Given the description of an element on the screen output the (x, y) to click on. 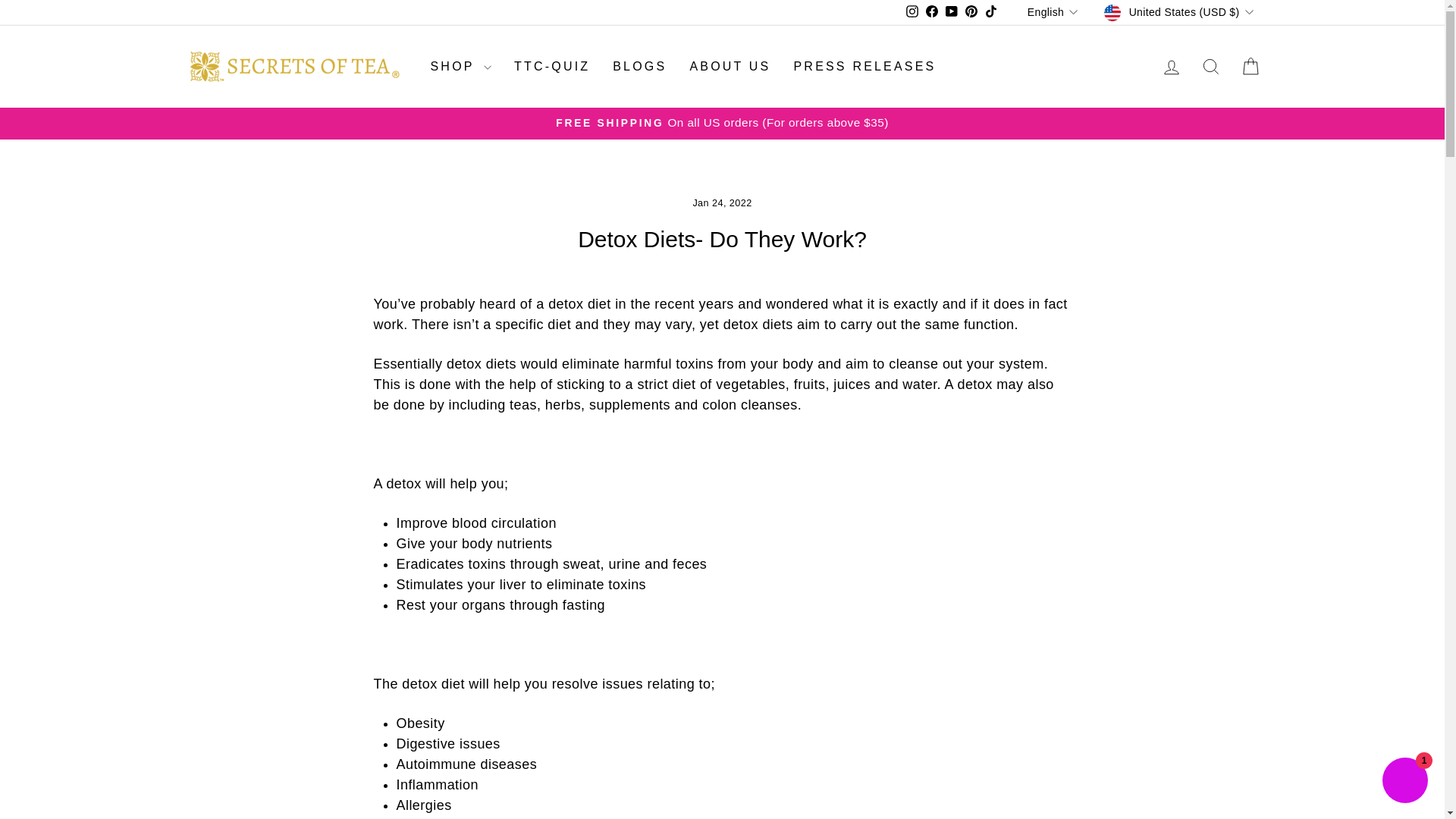
ACCOUNT (1170, 66)
instagram (911, 10)
English (1053, 12)
ICON-SEARCH (1210, 66)
